Given the description of an element on the screen output the (x, y) to click on. 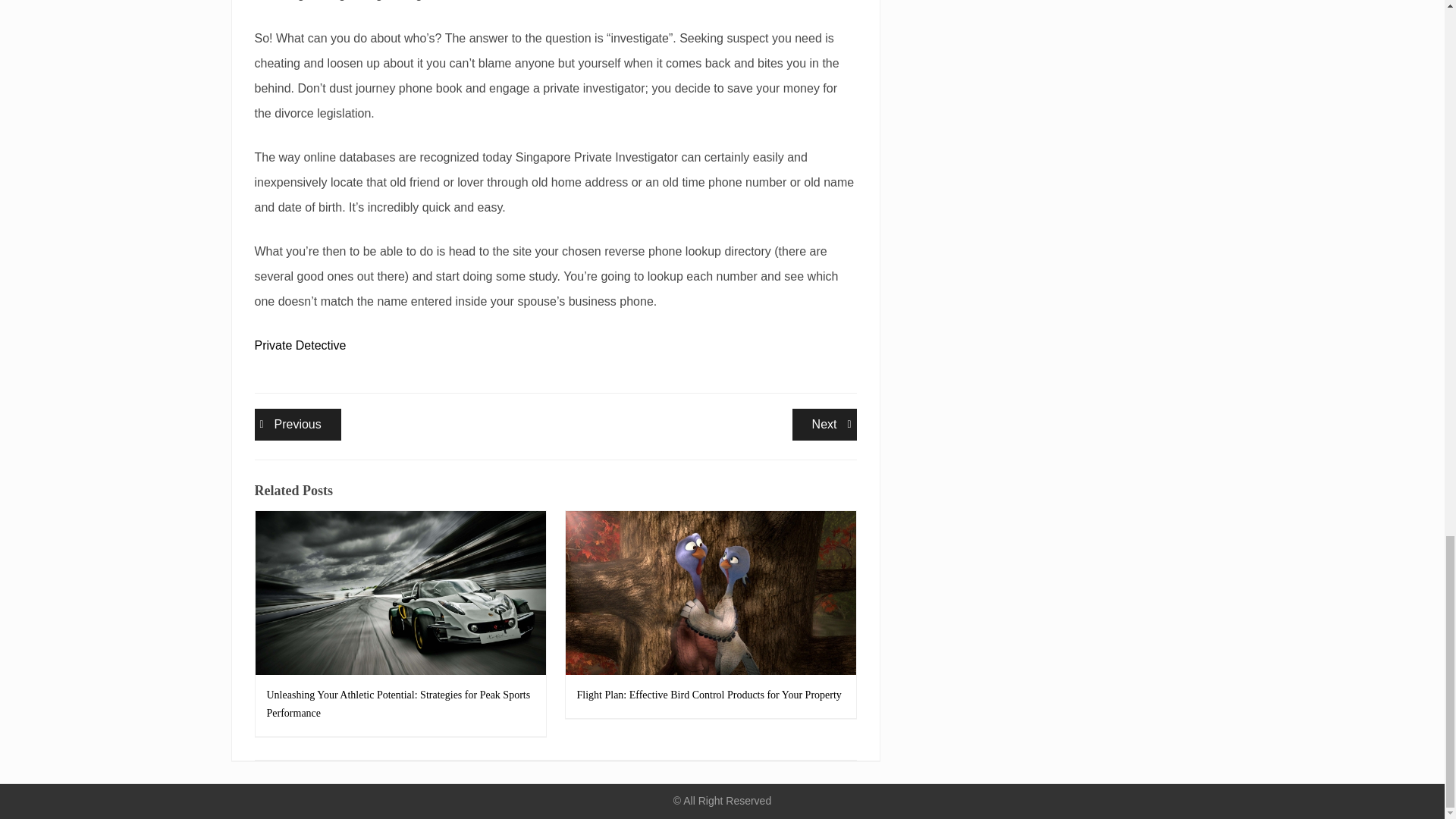
Private Detective (300, 345)
